Given the description of an element on the screen output the (x, y) to click on. 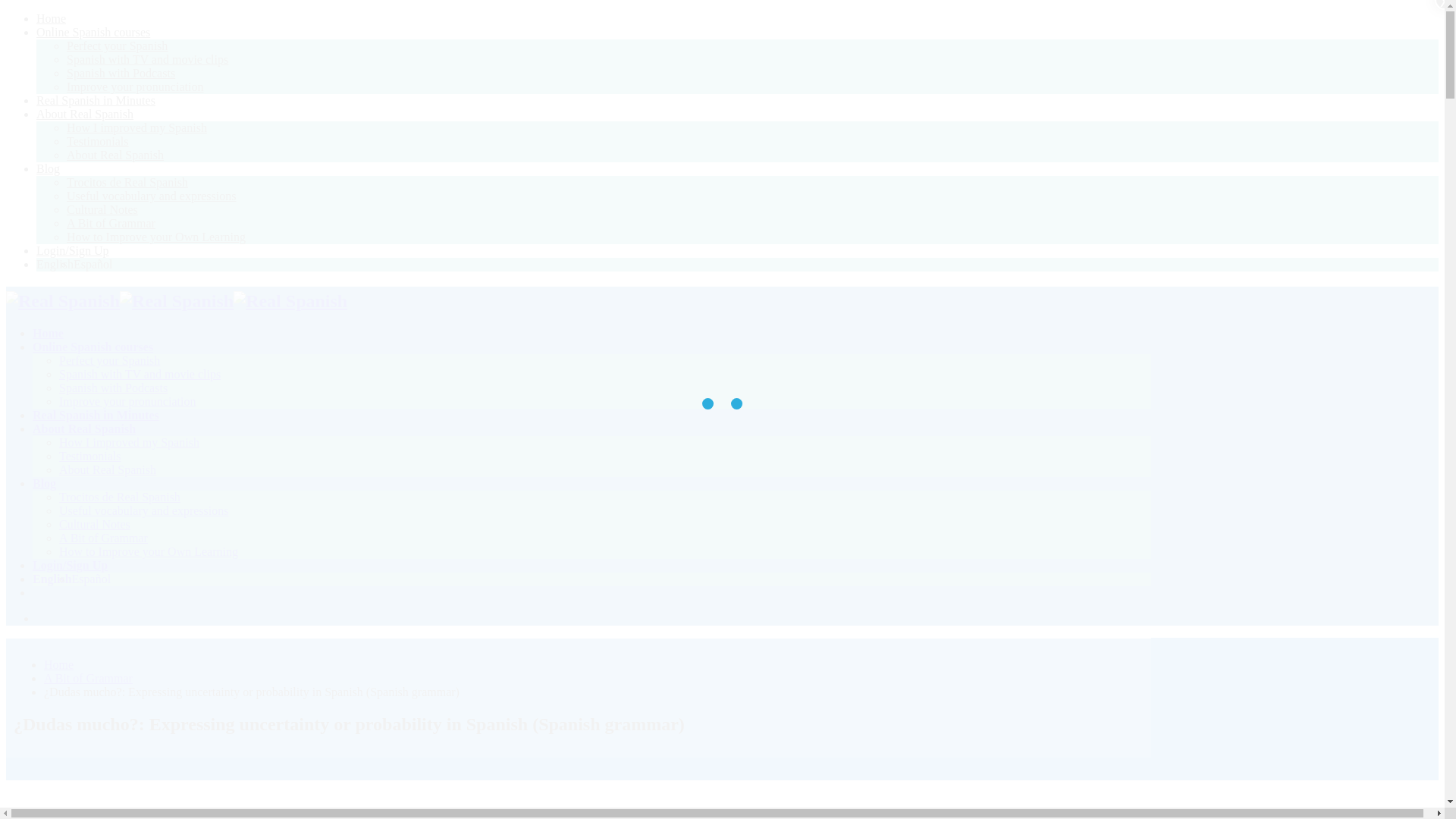
Spanish with TV and movie clips (147, 59)
Trocitos de Real Spanish (126, 182)
About Real Spanish (107, 469)
How I improved my Spanish (129, 441)
How I improved my Spanish (136, 127)
How to Improve your Own Learning (148, 551)
Testimonials (97, 141)
Useful vocabulary and expressions (150, 195)
Spanish with Podcasts (120, 72)
Trocitos de Real Spanish (126, 182)
